Given the description of an element on the screen output the (x, y) to click on. 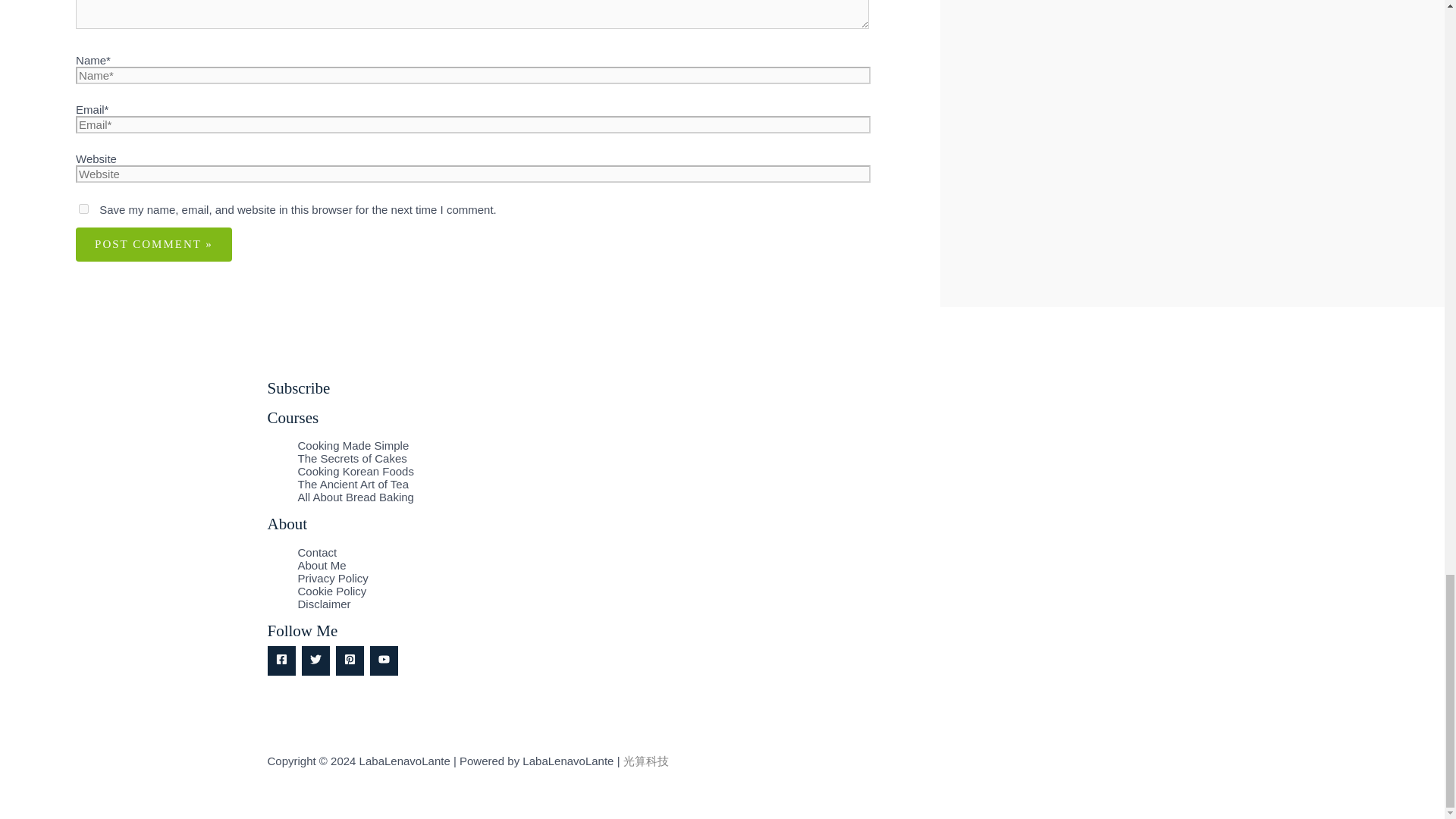
Contact (316, 552)
Cooking Korean Foods (355, 471)
About Me (321, 564)
All About Bread Baking (355, 496)
Cooking Made Simple (353, 445)
yes (83, 208)
The Secrets of Cakes (351, 458)
The Ancient Art of Tea (352, 483)
